Given the description of an element on the screen output the (x, y) to click on. 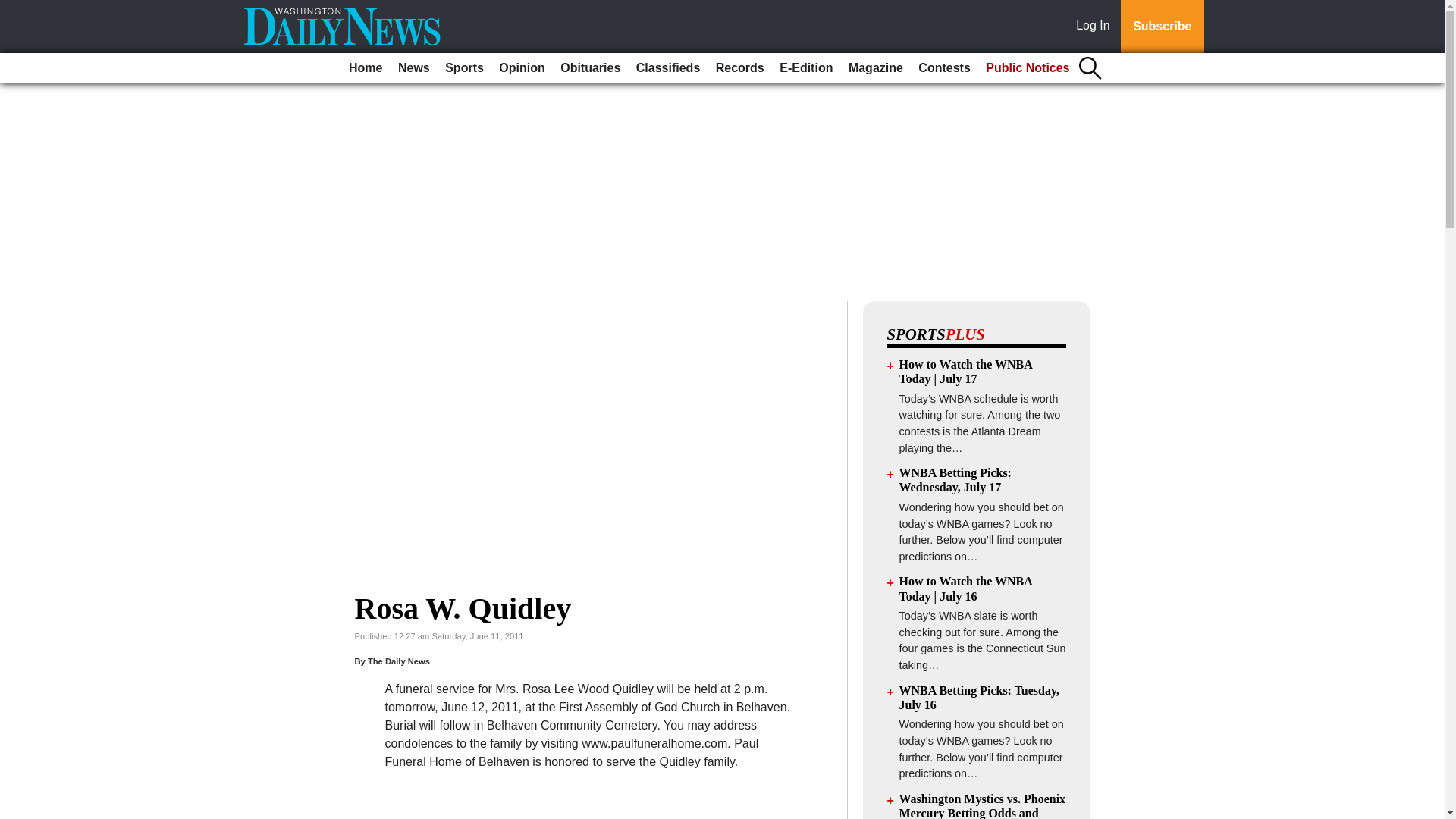
Records (740, 68)
Classifieds (668, 68)
WNBA Betting Picks: Tuesday, July 16 (979, 697)
Magazine (875, 68)
Contests (943, 68)
Sports (464, 68)
Log In (1095, 26)
News (413, 68)
WNBA Betting Picks: Wednesday, July 17 (955, 479)
The Daily News (398, 660)
Subscribe (1162, 26)
Home (365, 68)
Public Notices (1027, 68)
Opinion (521, 68)
E-Edition (805, 68)
